Given the description of an element on the screen output the (x, y) to click on. 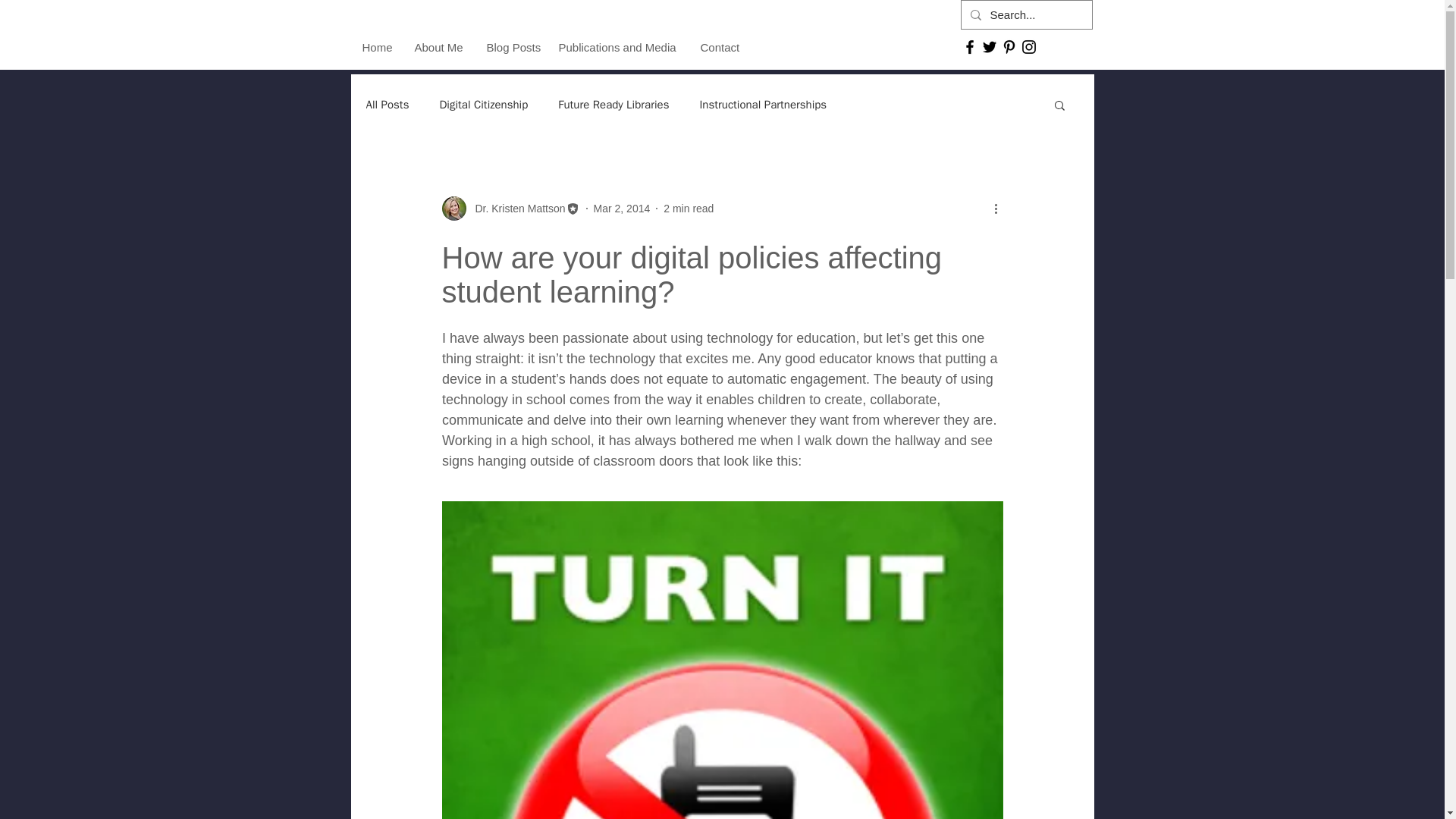
Home (376, 47)
Future Ready Libraries (612, 104)
All Posts (387, 104)
Mar 2, 2014 (622, 207)
Publications and Media (617, 47)
Digital Citizenship (483, 104)
Blog Posts (510, 47)
Contact (718, 47)
About Me (439, 47)
Instructional Partnerships (762, 104)
Dr. Kristen Mattson (514, 207)
2 min read (688, 207)
